Given the description of an element on the screen output the (x, y) to click on. 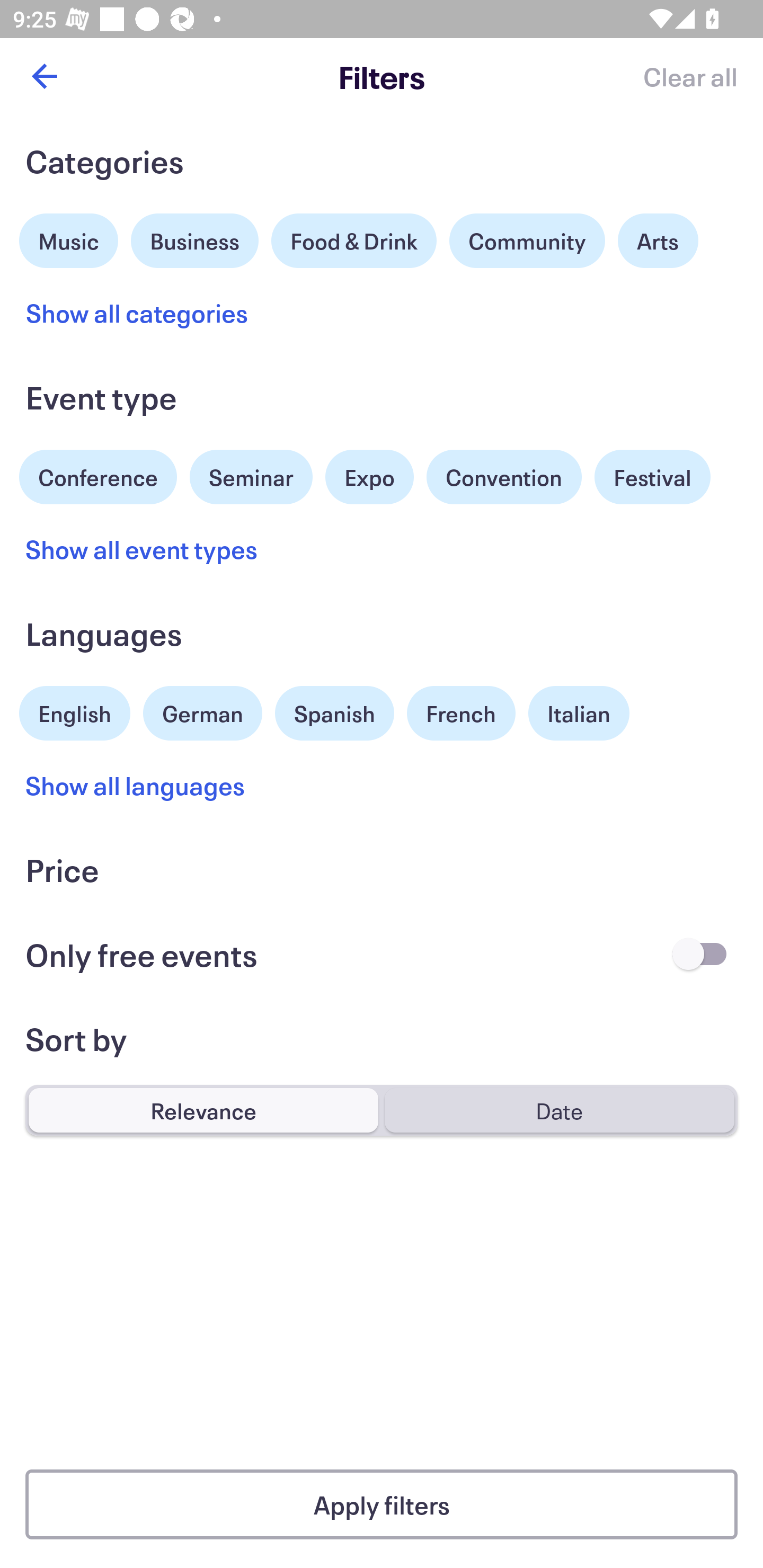
Back button (44, 75)
Clear all (690, 75)
Music (68, 238)
Business (194, 238)
Food & Drink (353, 240)
Community (527, 240)
Arts (658, 240)
Show all categories (136, 312)
Conference (98, 475)
Seminar (250, 477)
Expo (369, 477)
Convention (503, 477)
Festival (652, 477)
Show all event types (141, 548)
English (74, 710)
German (202, 710)
Spanish (334, 713)
French (460, 713)
Italian (578, 713)
Show all languages (135, 784)
Relevance (203, 1109)
Date (559, 1109)
Apply filters (381, 1504)
